Given the description of an element on the screen output the (x, y) to click on. 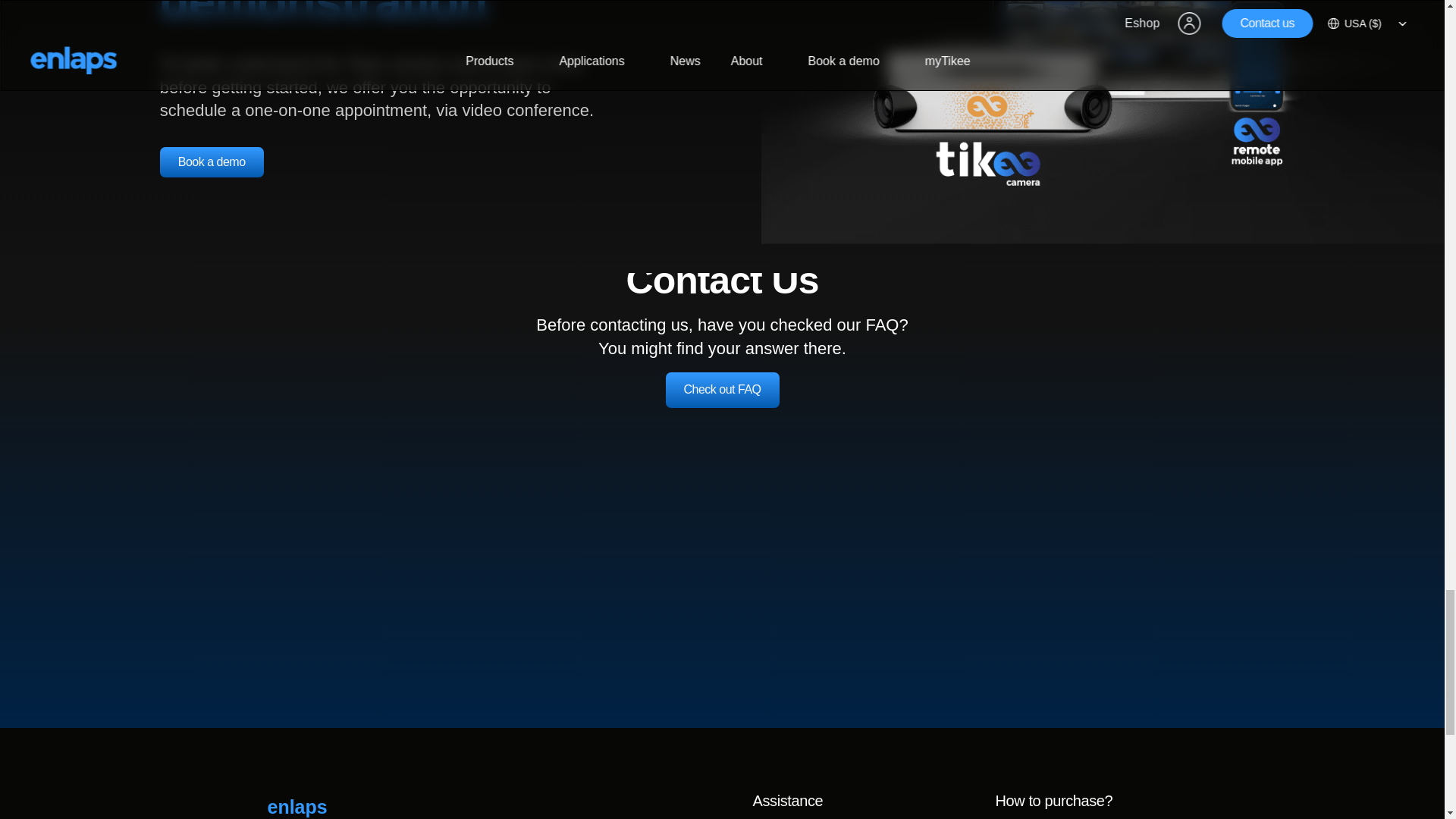
Book a demo (211, 162)
Check out FAQ (721, 389)
enlaps (327, 803)
